Given the description of an element on the screen output the (x, y) to click on. 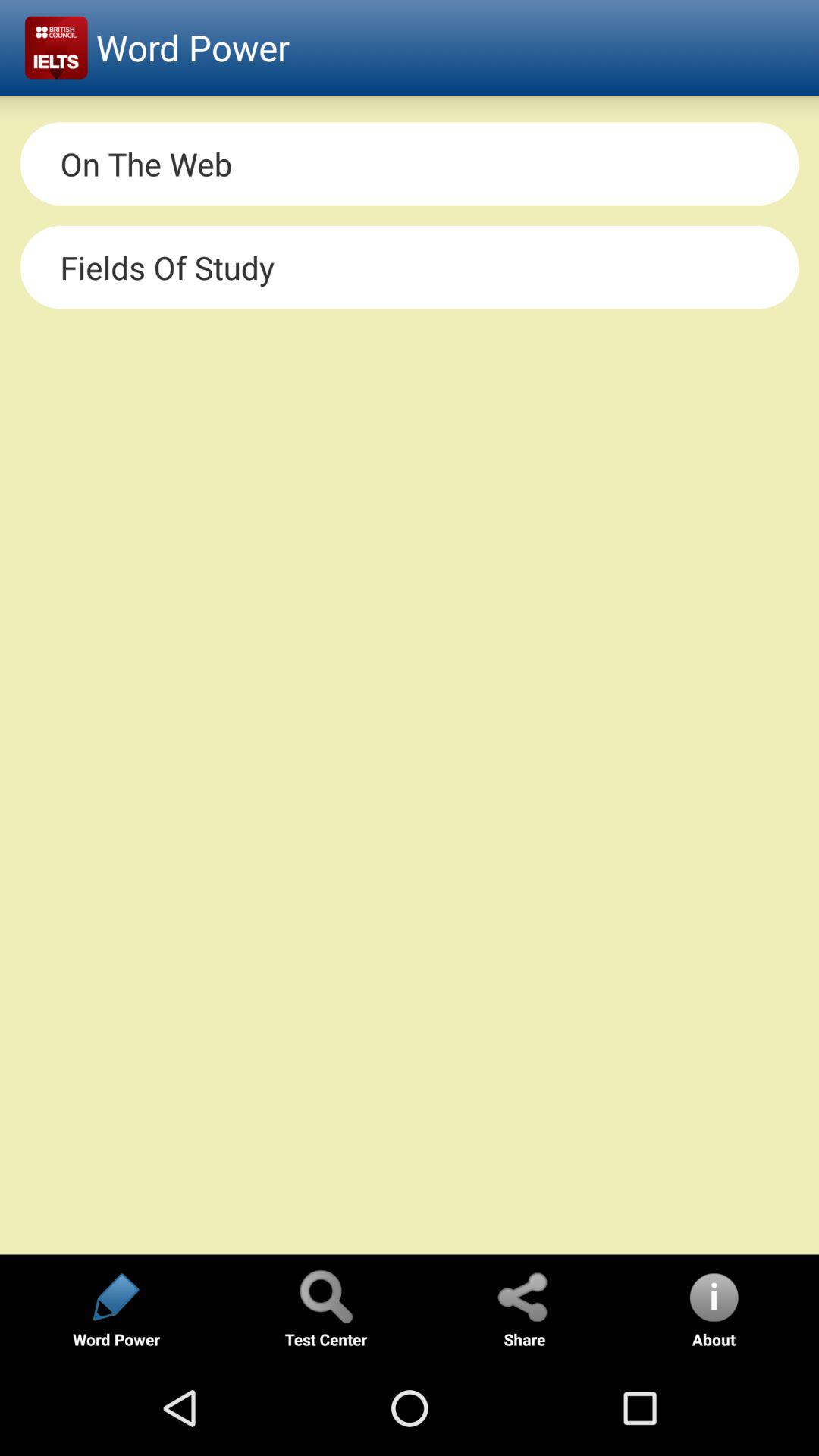
launch the icon below the on the web icon (409, 266)
